Given the description of an element on the screen output the (x, y) to click on. 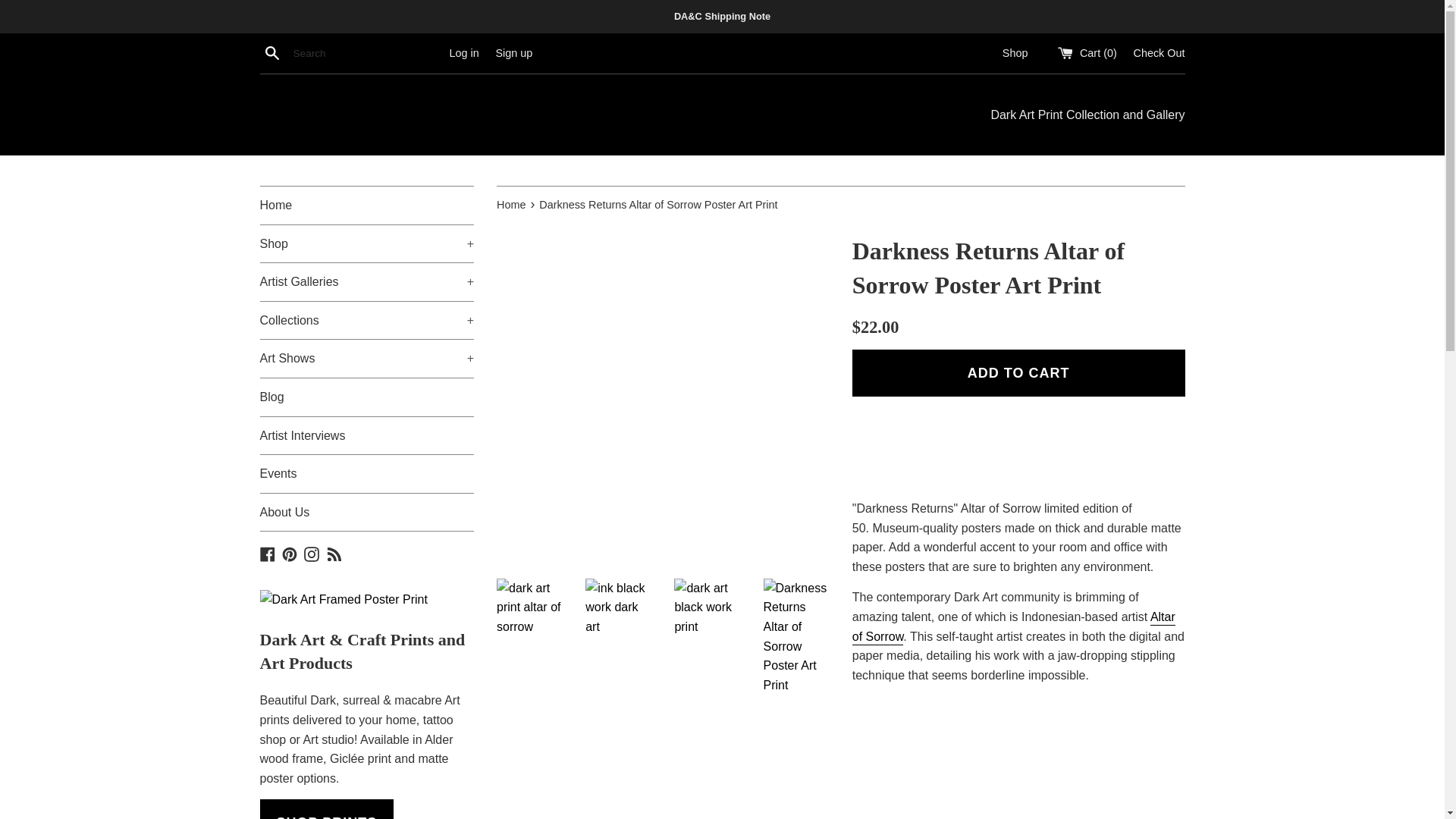
Home (366, 205)
Shop (1015, 52)
Dark Art and Craft on Facebook (267, 553)
Search (271, 52)
Check Out (1159, 52)
Dark Art and Craft on Pinterest (289, 553)
Back to the frontpage (512, 204)
Log in (463, 52)
Dark Art and Craft on Instagram (311, 553)
Sign up (513, 52)
